Given the description of an element on the screen output the (x, y) to click on. 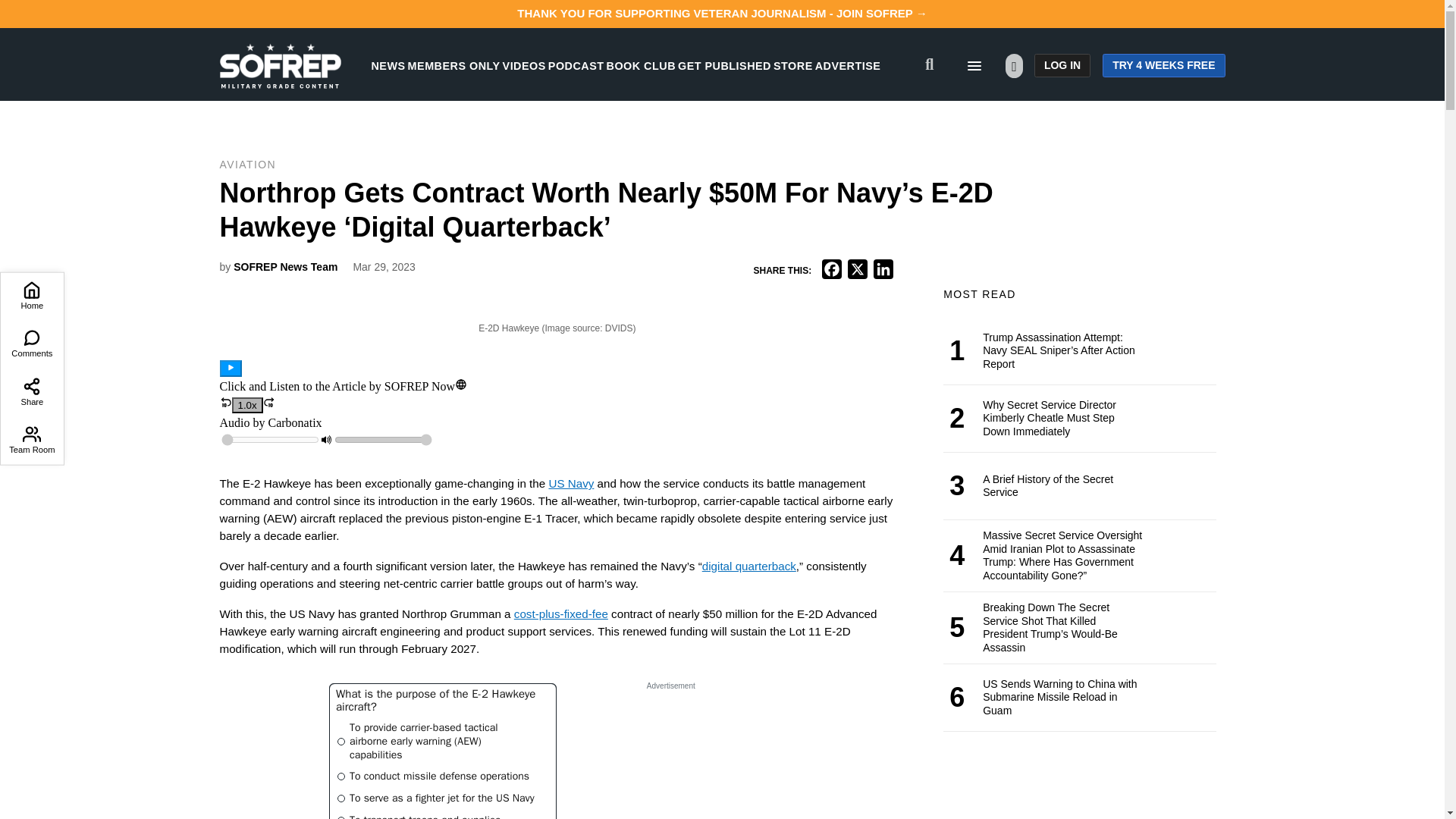
ADVERTISE (847, 65)
Vuukle Quiz Widget (442, 751)
TRY 4 WEEKS FREE (1163, 65)
LOG IN (1061, 65)
STORE (792, 65)
GET PUBLISHED (724, 65)
MEMBERS ONLY (453, 65)
NEWS (388, 65)
BOOK CLUB (641, 65)
PODCAST (576, 65)
3rd party ad content (670, 756)
VIDEOS (524, 65)
